Given the description of an element on the screen output the (x, y) to click on. 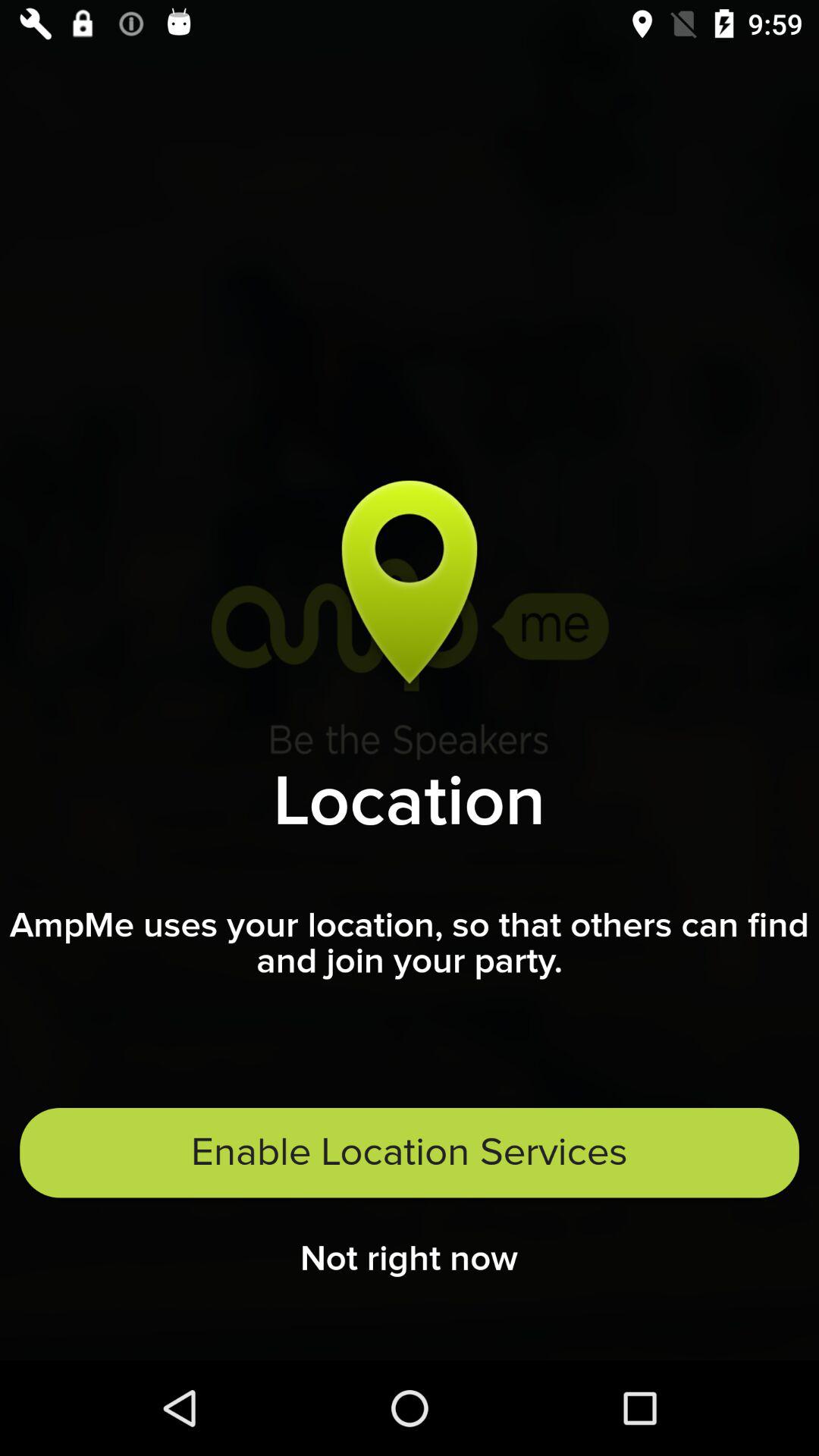
turn off icon above the not right now (409, 1152)
